Given the description of an element on the screen output the (x, y) to click on. 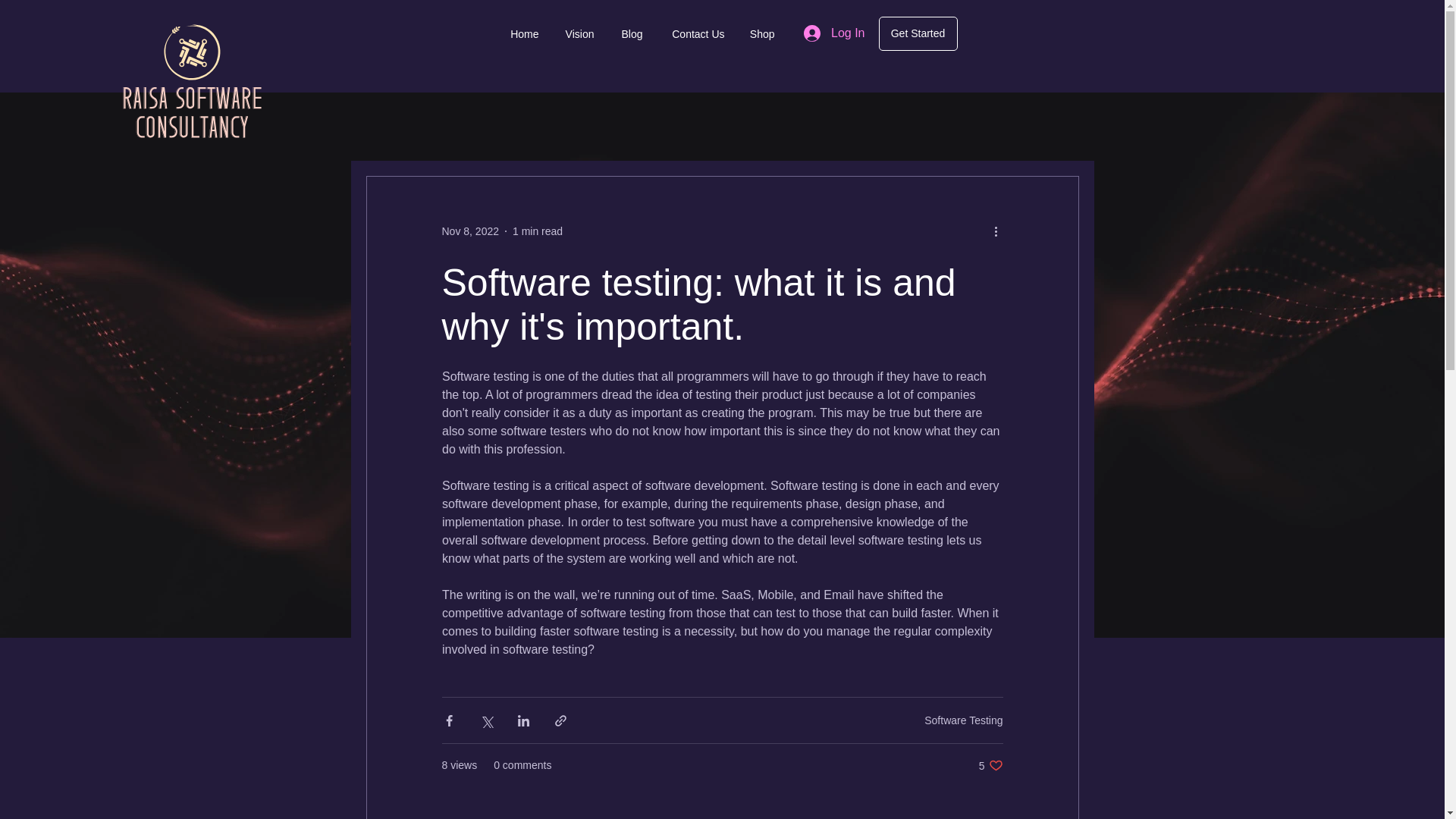
Log In (834, 32)
Software Testing (963, 720)
Get Started (916, 33)
Contact Us (694, 34)
Shop (760, 34)
1 min read (537, 230)
Blog (629, 34)
Nov 8, 2022 (990, 765)
Home (470, 230)
Vision (522, 34)
